Given the description of an element on the screen output the (x, y) to click on. 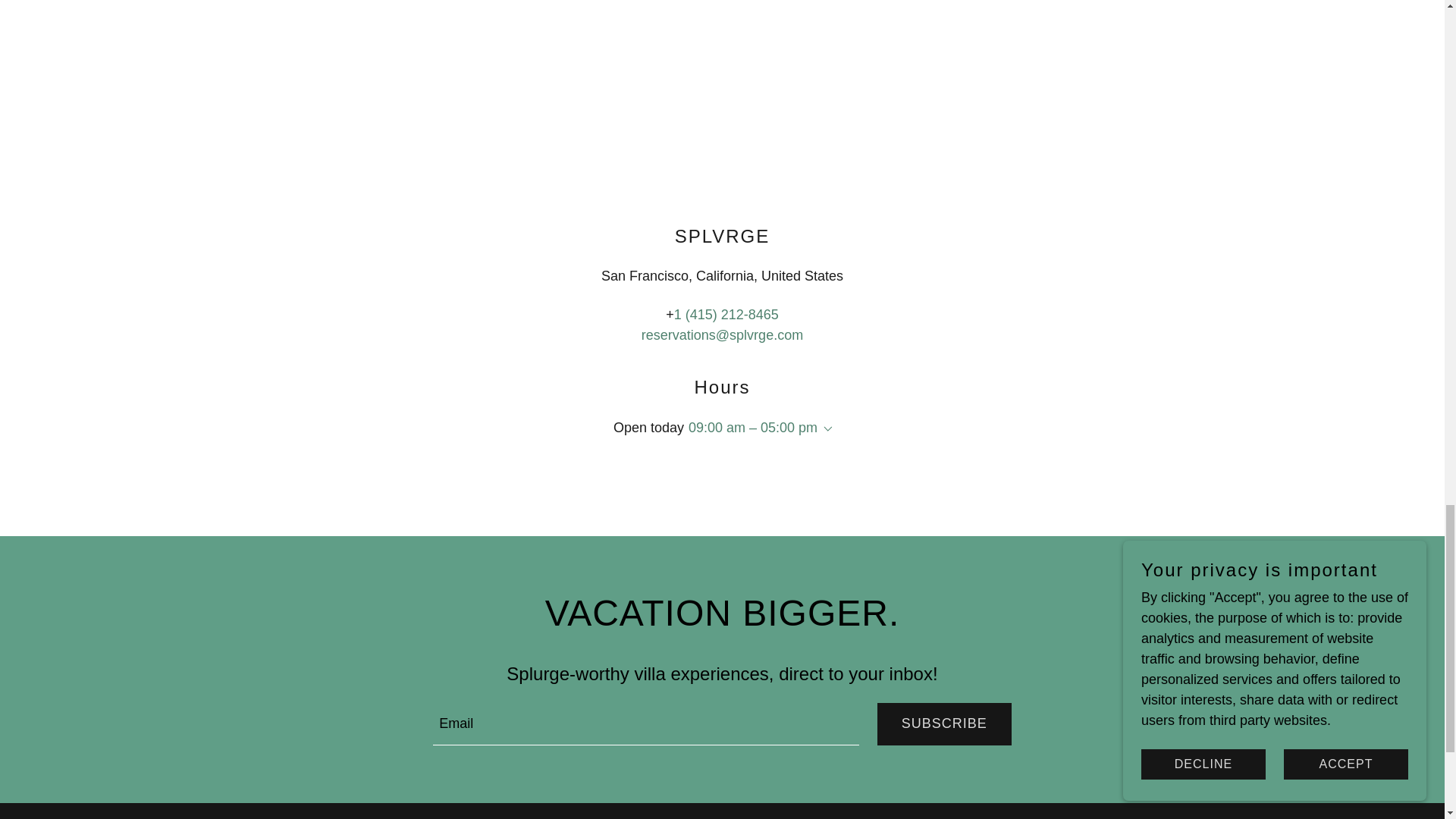
SUBSCRIBE (944, 723)
